Given the description of an element on the screen output the (x, y) to click on. 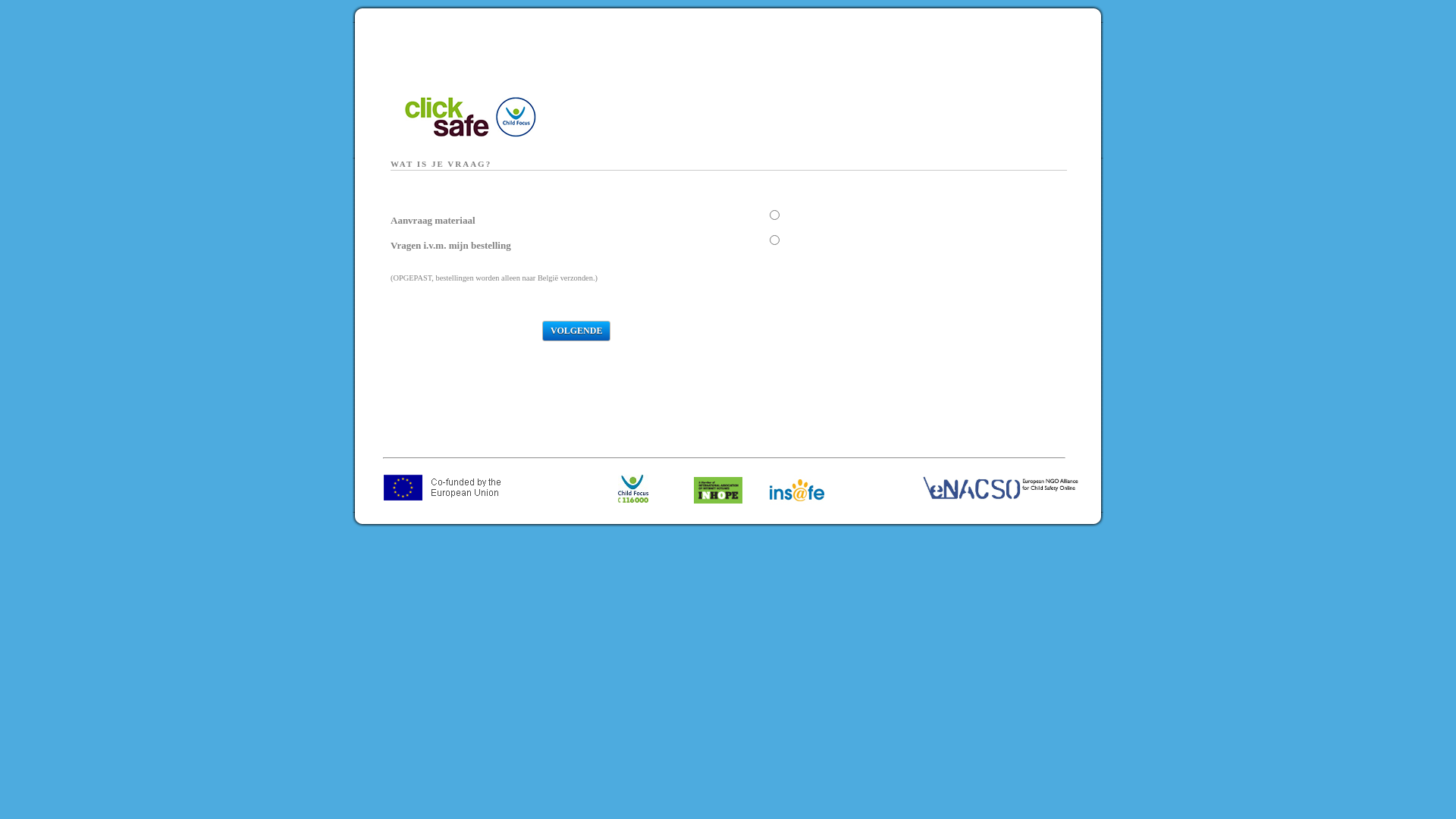
Volgende Element type: text (576, 330)
